Given the description of an element on the screen output the (x, y) to click on. 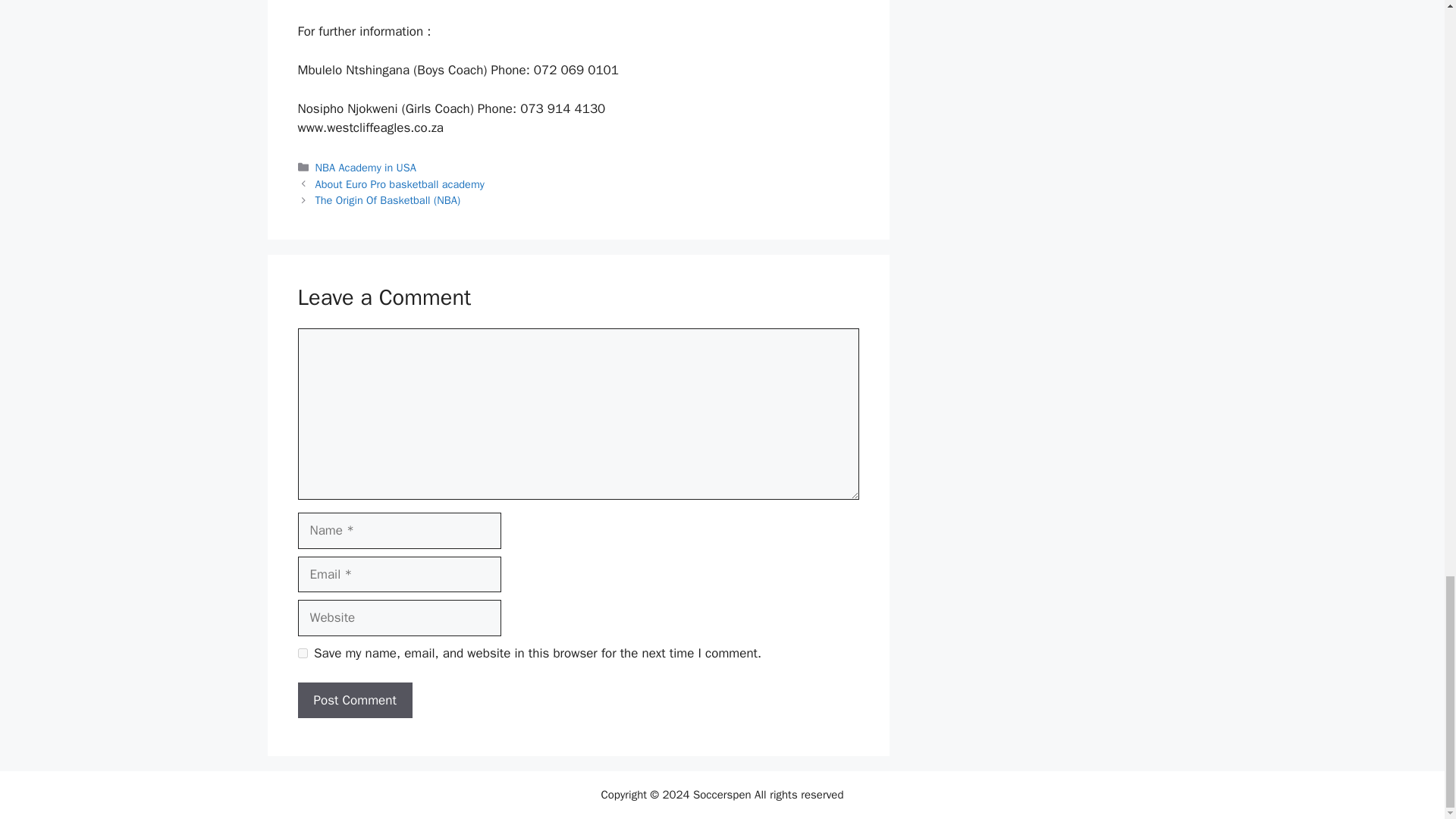
About Euro Pro basketball academy (399, 183)
Post Comment (354, 700)
South Africa (750, 0)
Post Comment (354, 700)
yes (302, 653)
NBA Academy in USA (365, 167)
